Given the description of an element on the screen output the (x, y) to click on. 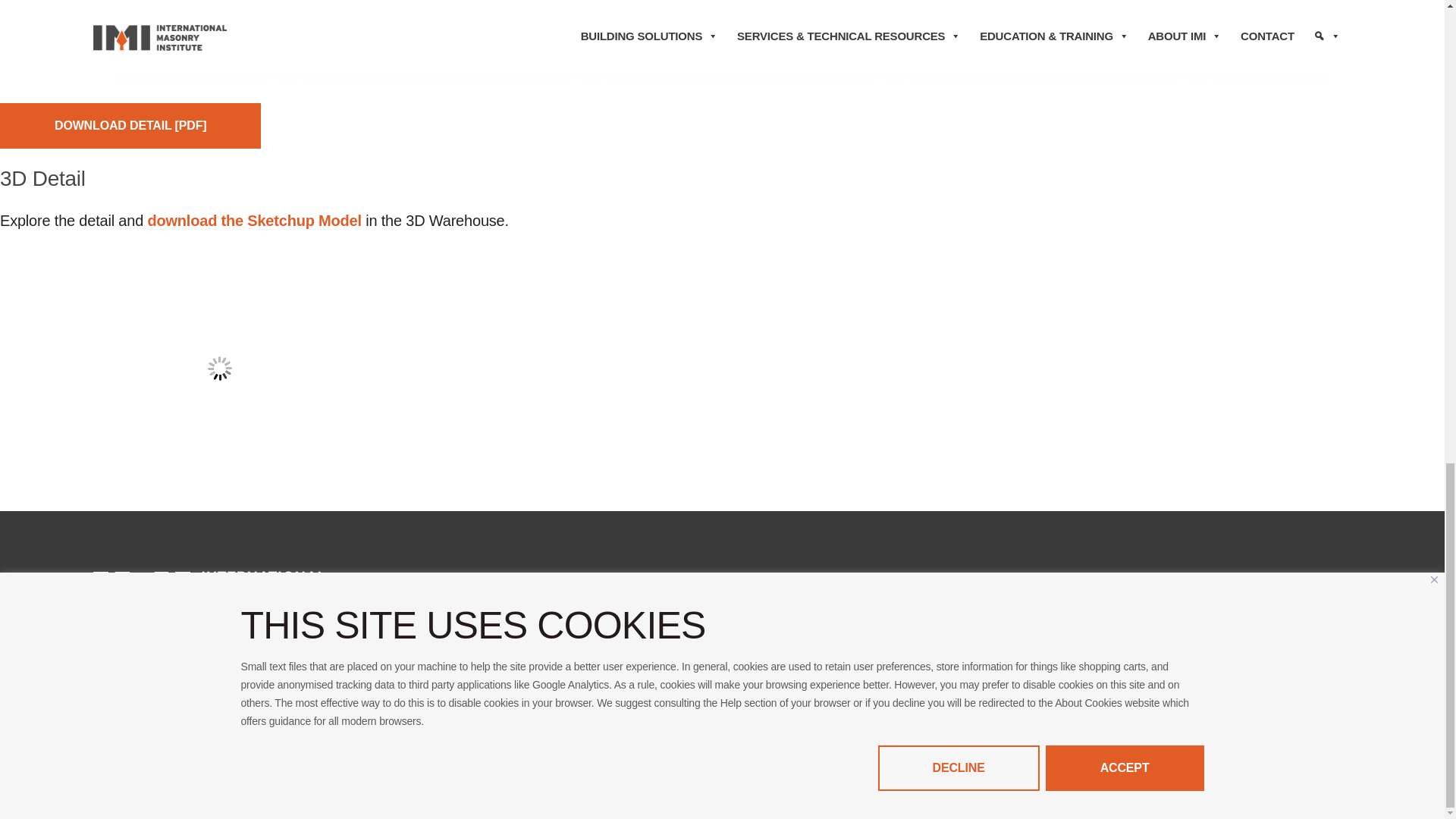
Subscribe (1040, 709)
